Given the description of an element on the screen output the (x, y) to click on. 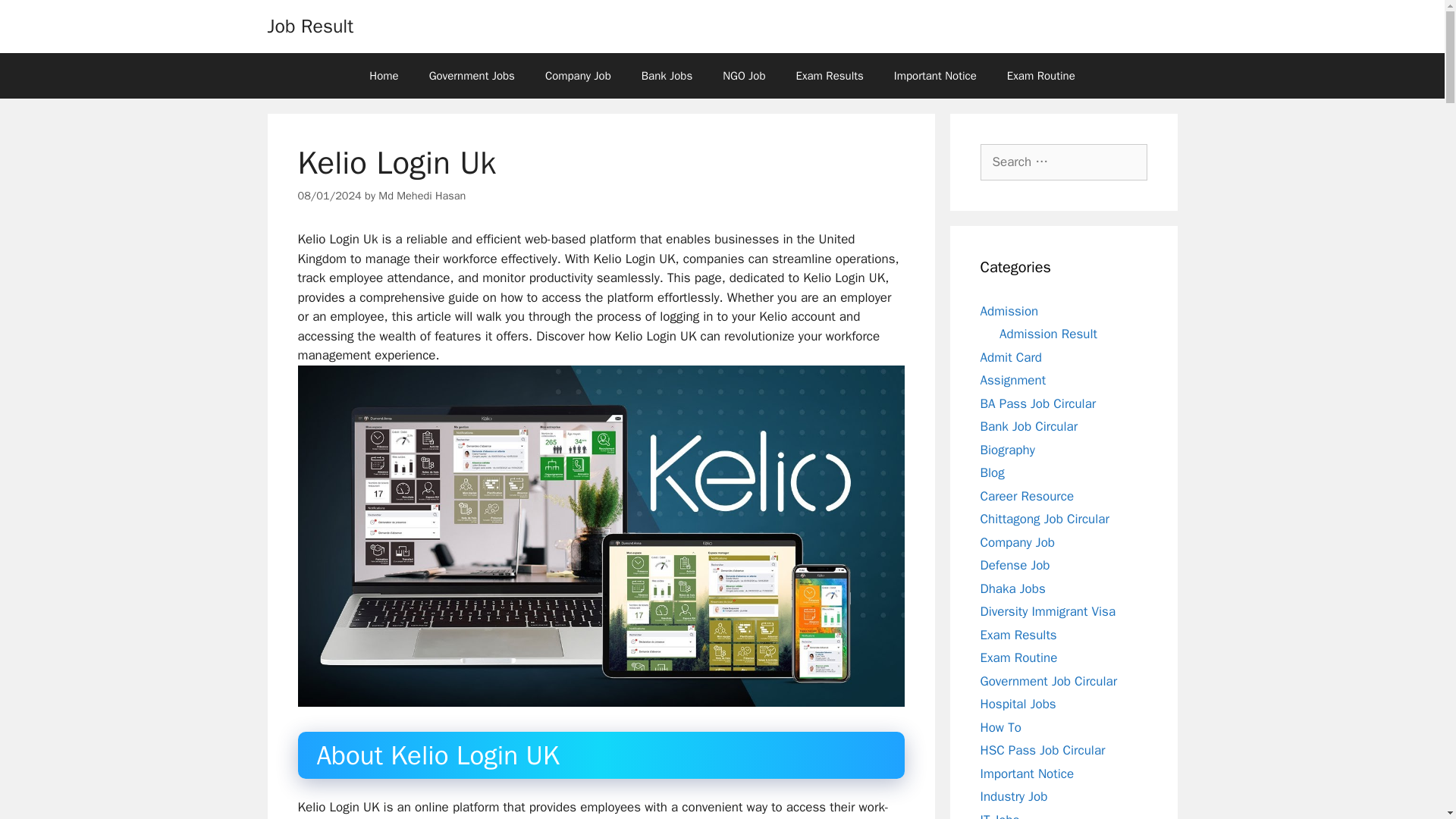
Admission Result (1047, 333)
Chittagong Job Circular (1043, 519)
Defense Job (1014, 565)
Exam Results (829, 75)
Job Result (309, 25)
Important Notice (935, 75)
Assignment (1012, 380)
NGO Job (743, 75)
Bank Job Circular (1028, 426)
Biography (1006, 449)
Career Resource (1026, 496)
Company Job (1016, 541)
Md Mehedi Hasan (421, 195)
Search (35, 18)
Home (383, 75)
